Given the description of an element on the screen output the (x, y) to click on. 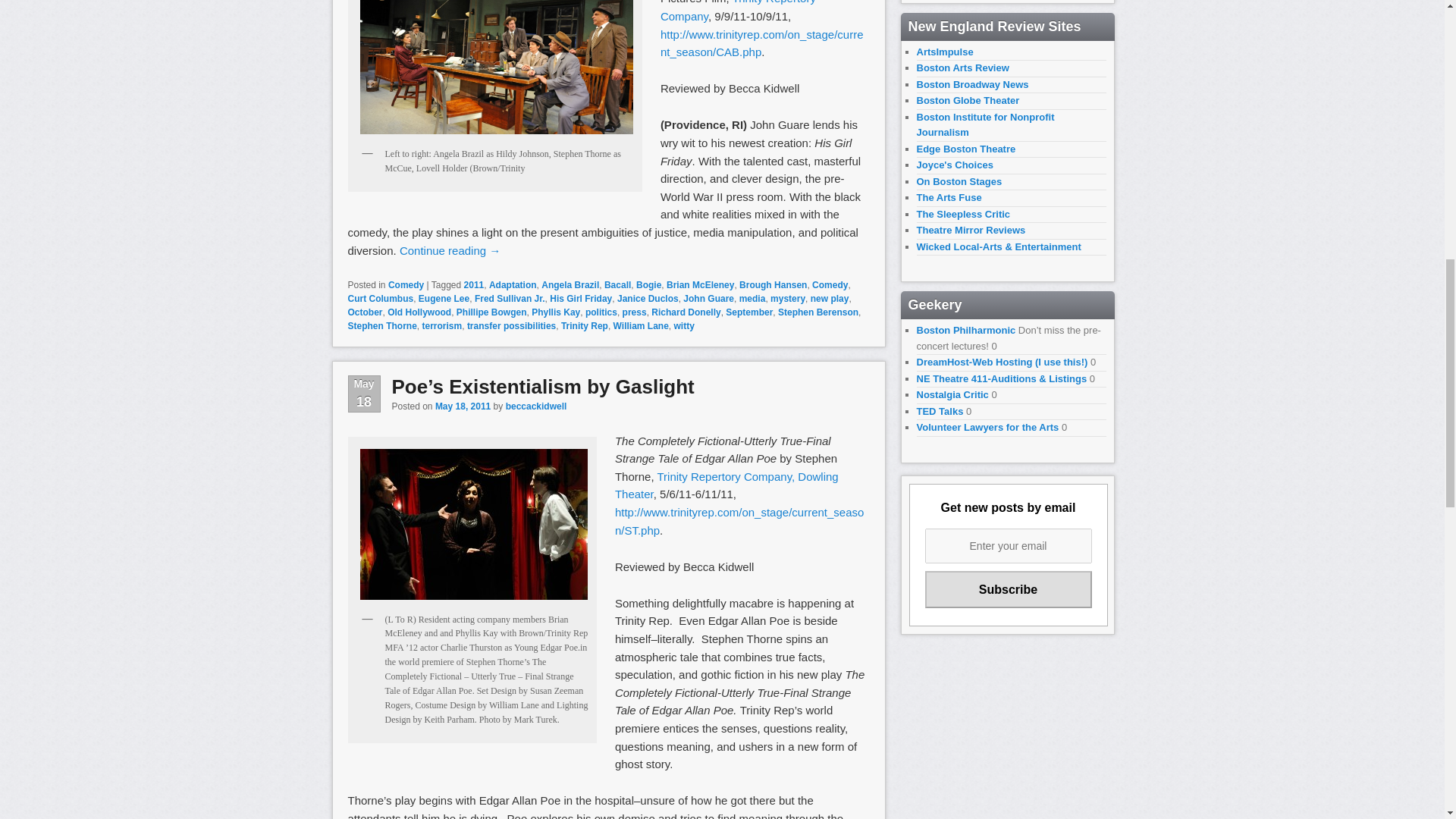
Subscribe (1008, 589)
Trinity Repertory Company (738, 11)
View all posts by beccackidwell (536, 406)
12:05 am (462, 406)
